Given the description of an element on the screen output the (x, y) to click on. 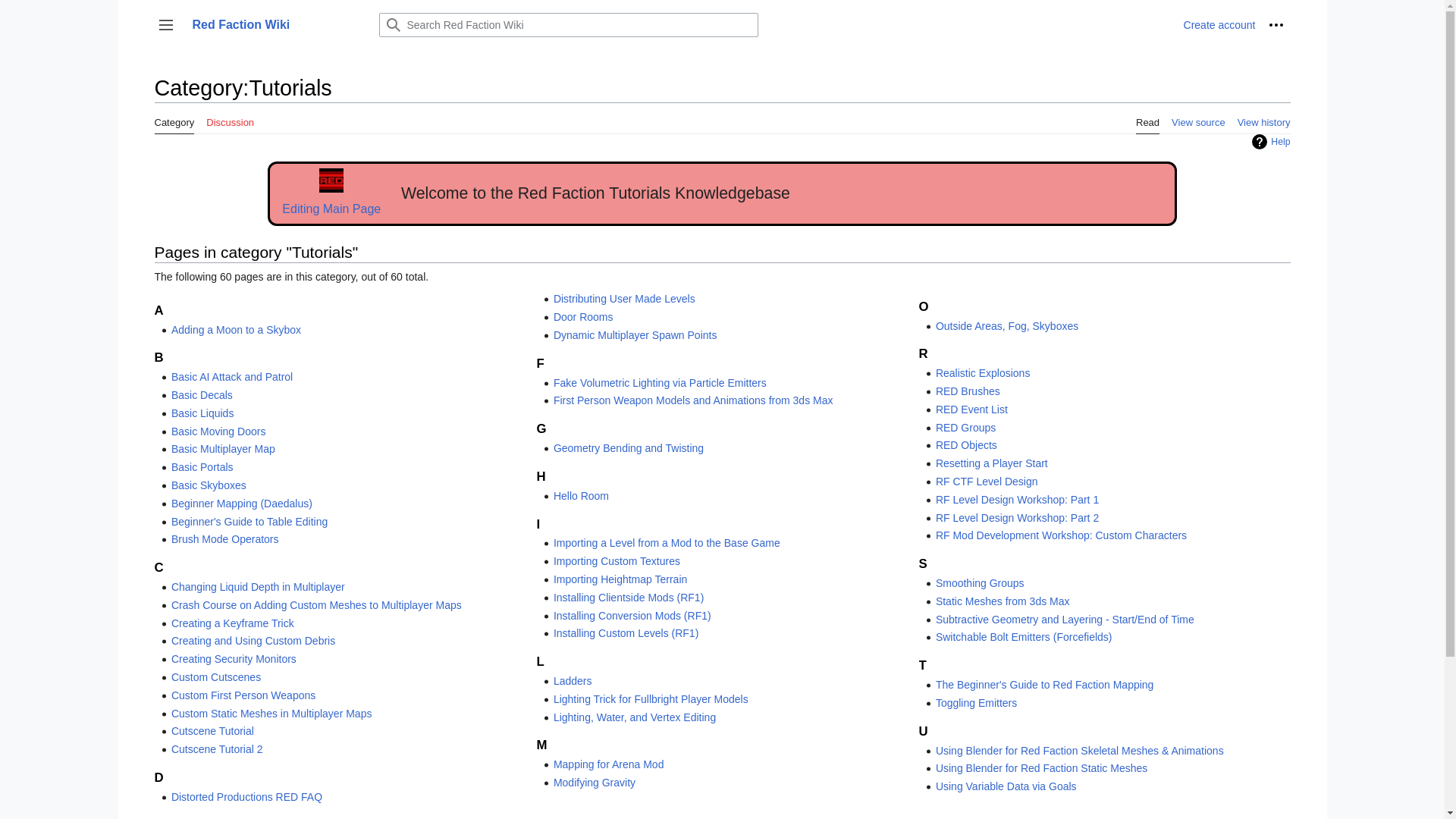
Search (392, 24)
Search the pages for this text (392, 24)
Adding a Moon to a Skybox (236, 329)
Main menu (165, 24)
Basic AI Attack and Patrol (231, 377)
Create account (1219, 24)
Category (174, 118)
Search (392, 24)
Red Faction Wiki (276, 24)
Help (1271, 141)
View source (1198, 118)
Go (392, 24)
Discussion (229, 118)
Go (392, 24)
